Given the description of an element on the screen output the (x, y) to click on. 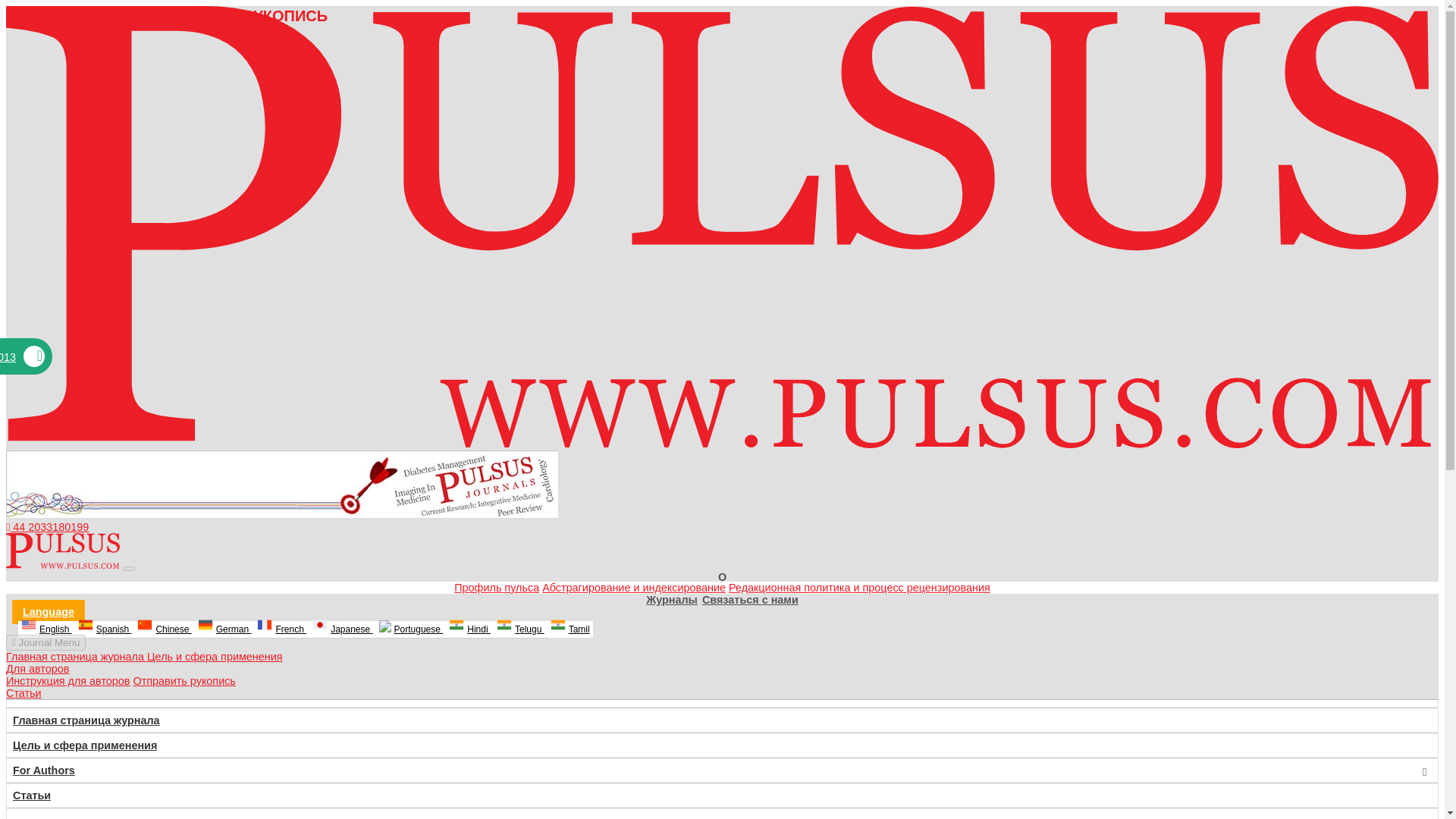
Tamil (569, 629)
Telugu (520, 629)
Hindi (469, 629)
44 1834290013 (22, 357)
German (224, 629)
Abstracting and Indexing (633, 587)
Telugu (520, 629)
Spanish (105, 629)
Chinese (163, 629)
Japanese (341, 629)
